Given the description of an element on the screen output the (x, y) to click on. 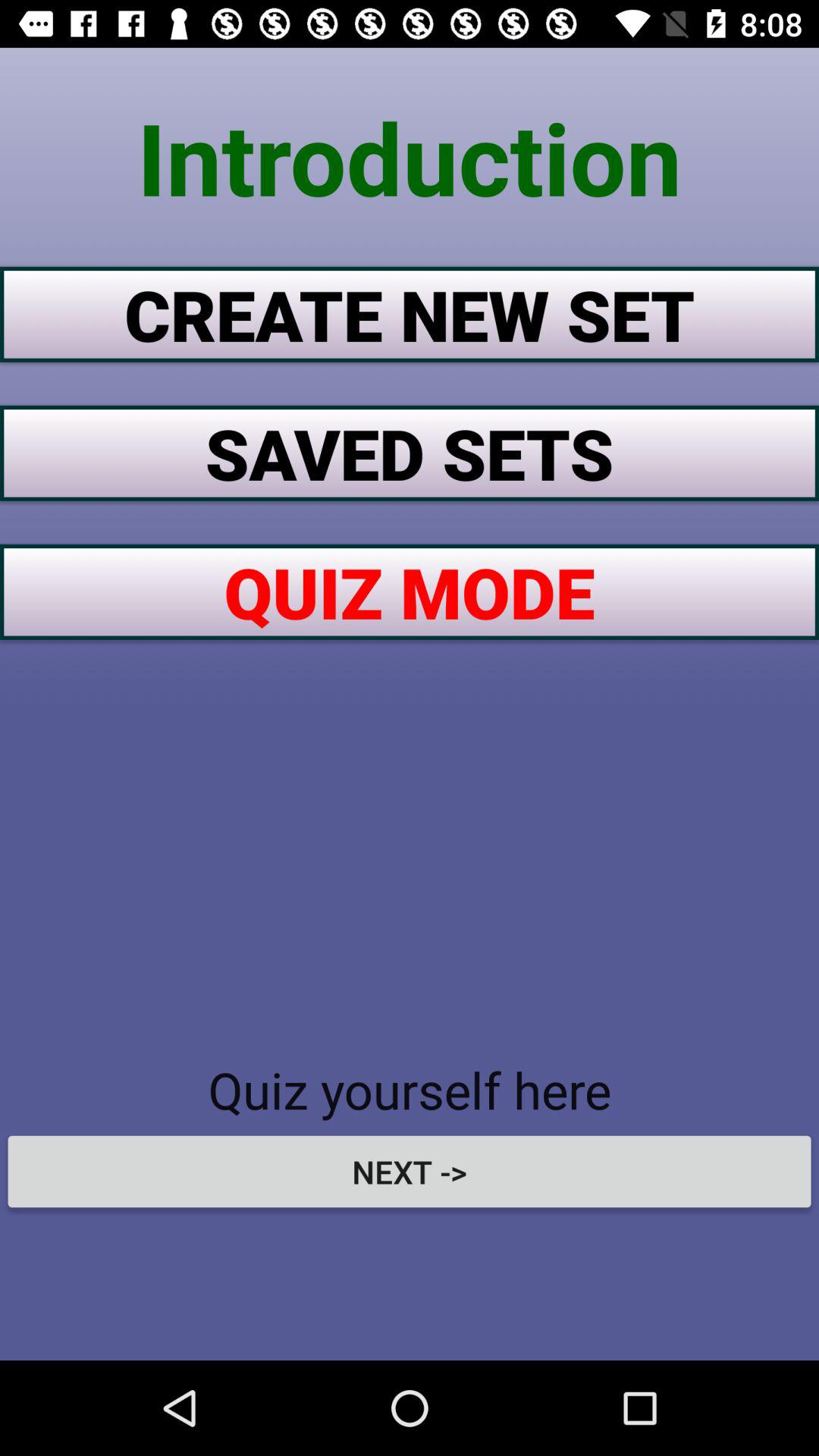
turn off saved sets (409, 453)
